Given the description of an element on the screen output the (x, y) to click on. 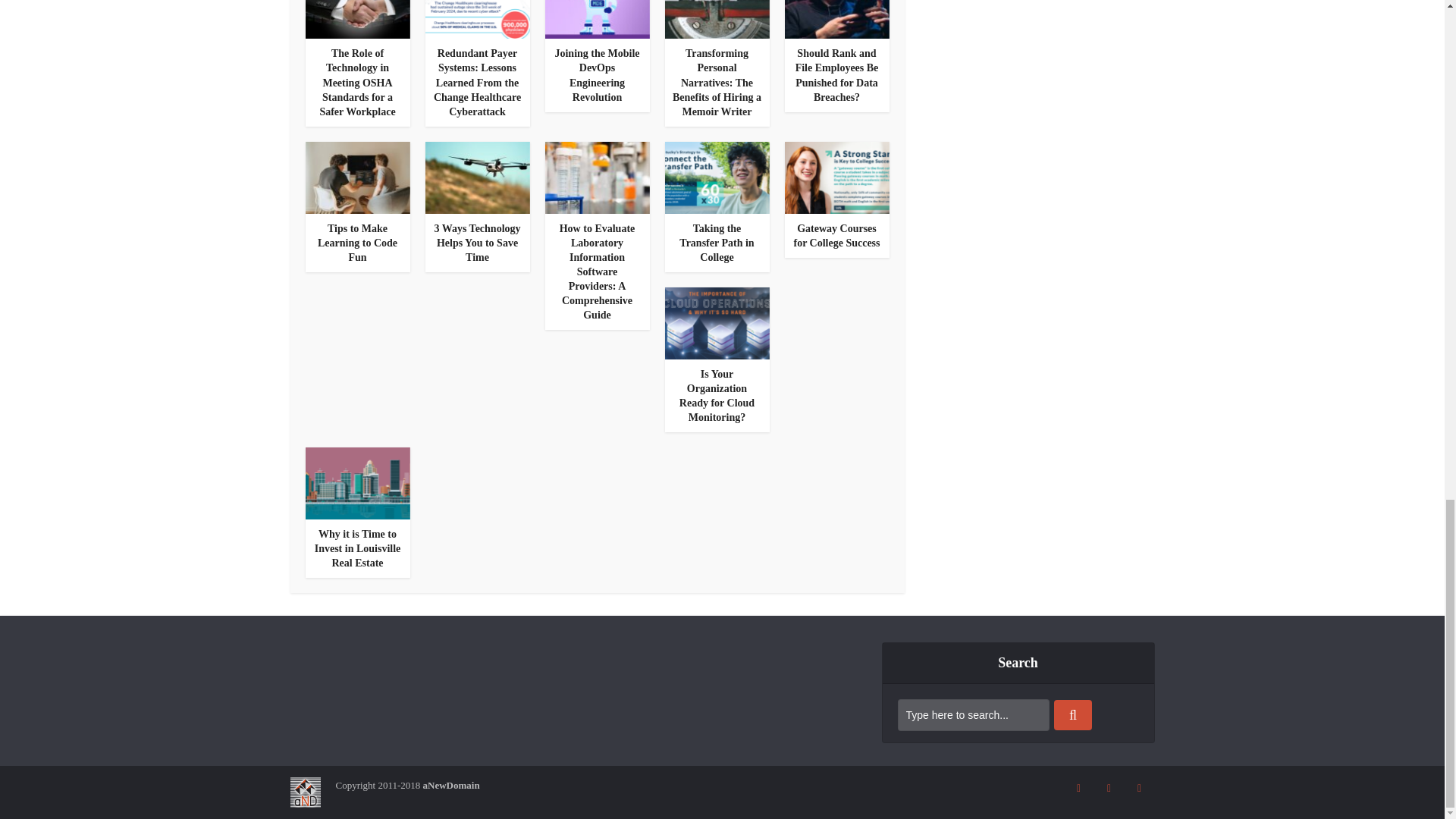
Type here to search... (973, 715)
Joining the Mobile DevOps Engineering Revolution (596, 74)
3 Ways Technology Helps You to Save Time (476, 242)
Gateway Courses for College Success (836, 235)
3 Ways Technology Helps You to Save Time (476, 242)
